Given the description of an element on the screen output the (x, y) to click on. 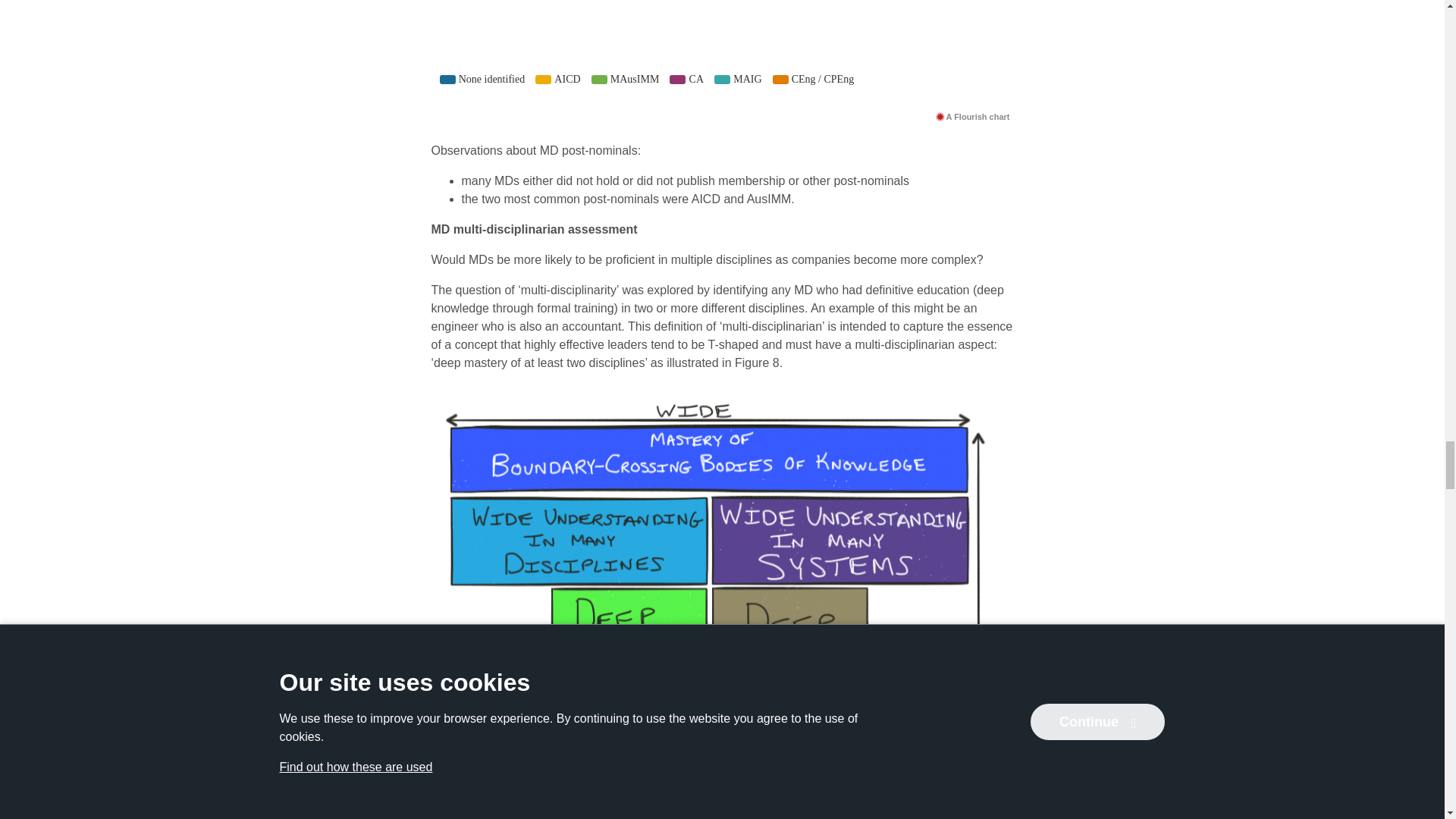
Interactive or visual content (721, 52)
A Flourish chart (972, 115)
